Given the description of an element on the screen output the (x, y) to click on. 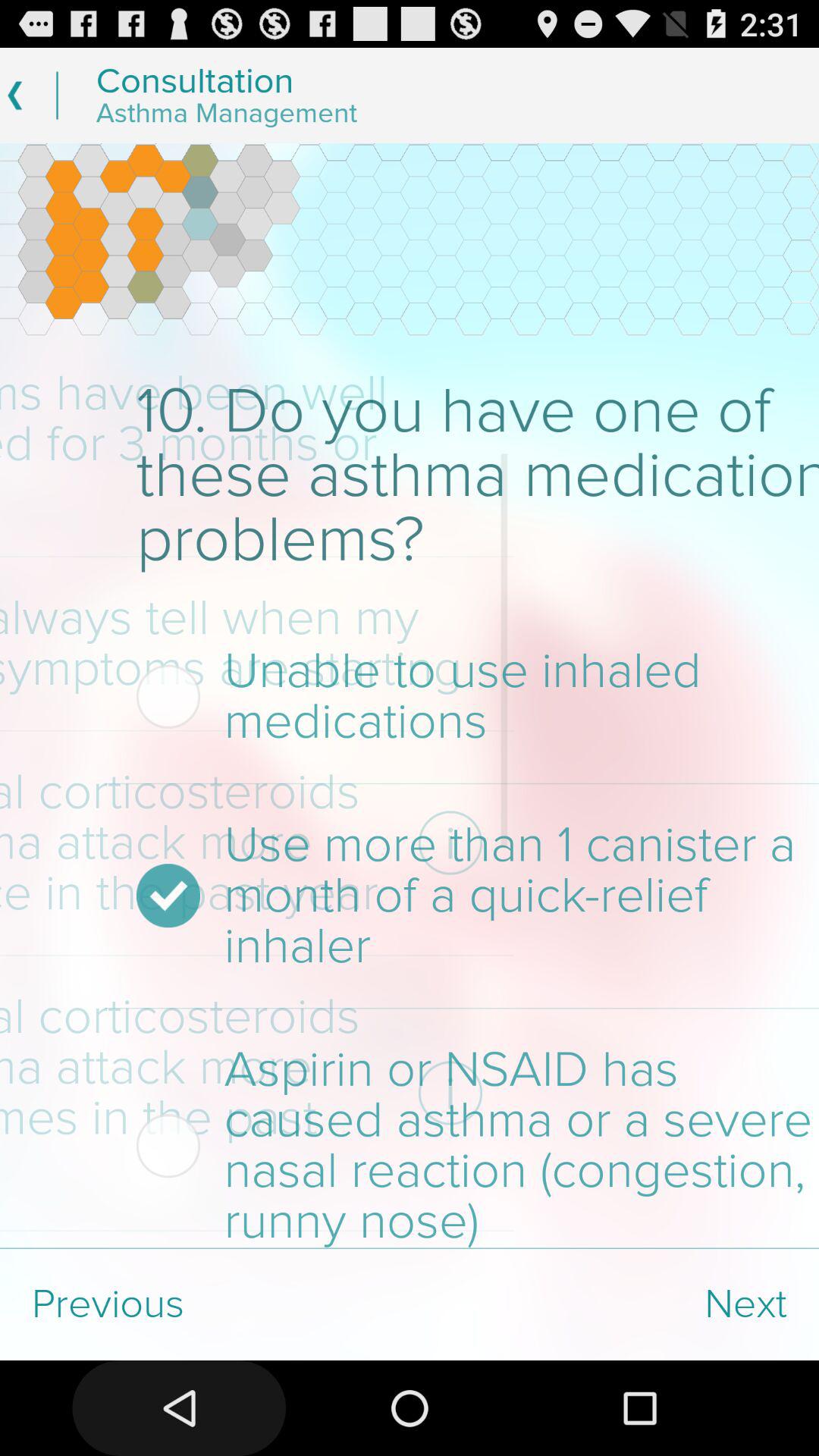
flip until the next item (614, 1304)
